Given the description of an element on the screen output the (x, y) to click on. 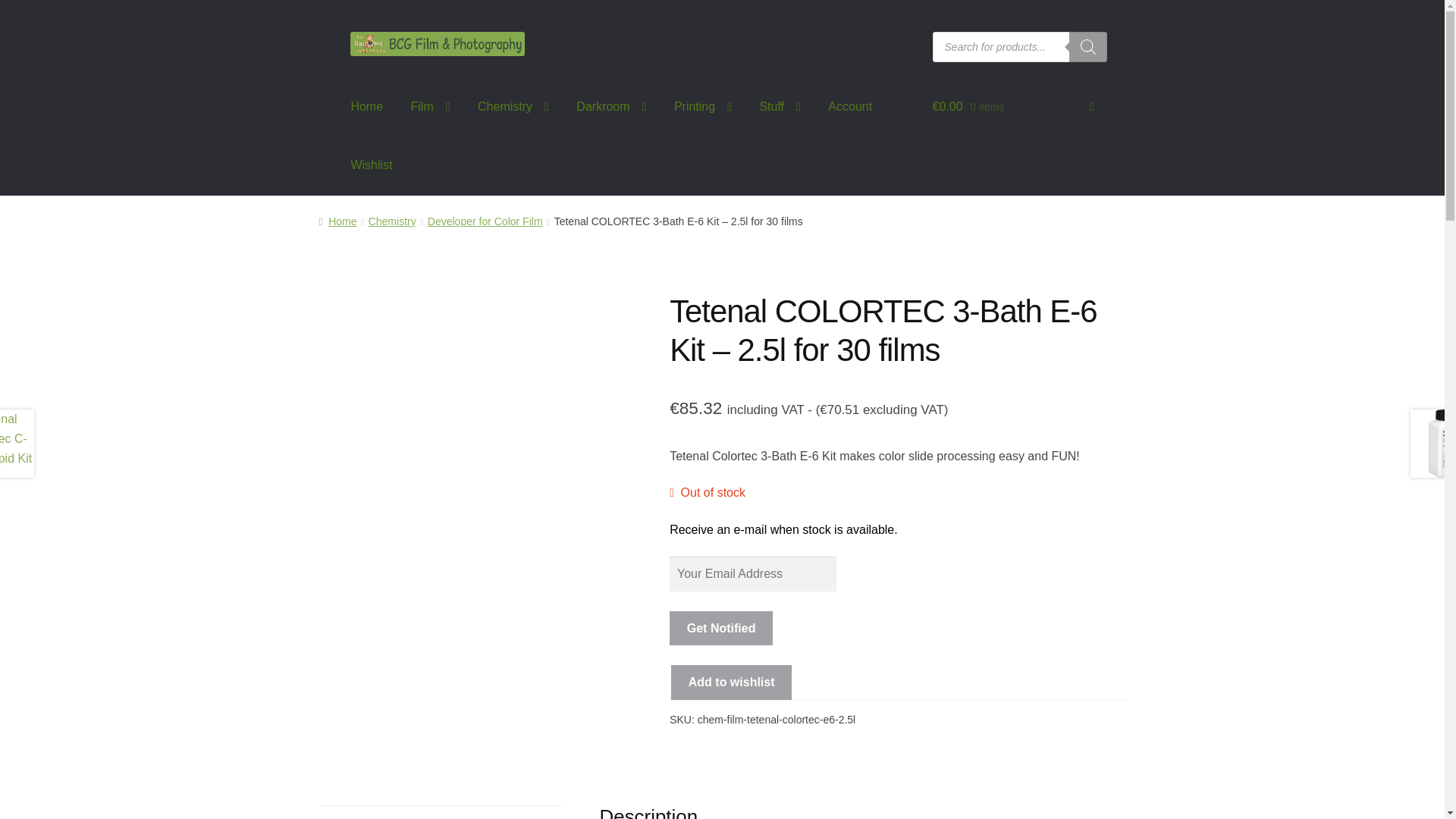
Get Notified (721, 628)
Darkroom (611, 106)
View your shopping cart (1013, 106)
Film (430, 106)
Home (365, 106)
Chemistry (512, 106)
